Given the description of an element on the screen output the (x, y) to click on. 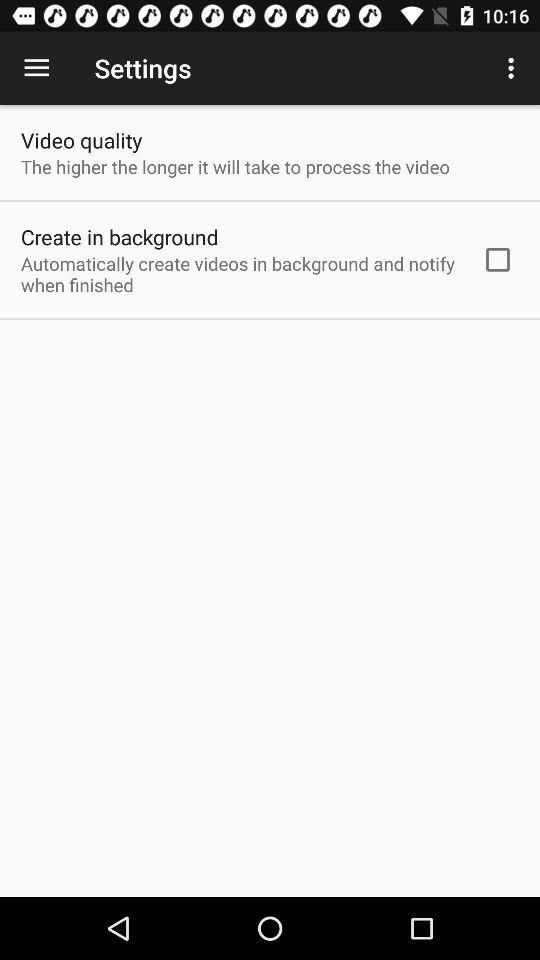
select icon to the right of automatically create videos item (497, 259)
